Given the description of an element on the screen output the (x, y) to click on. 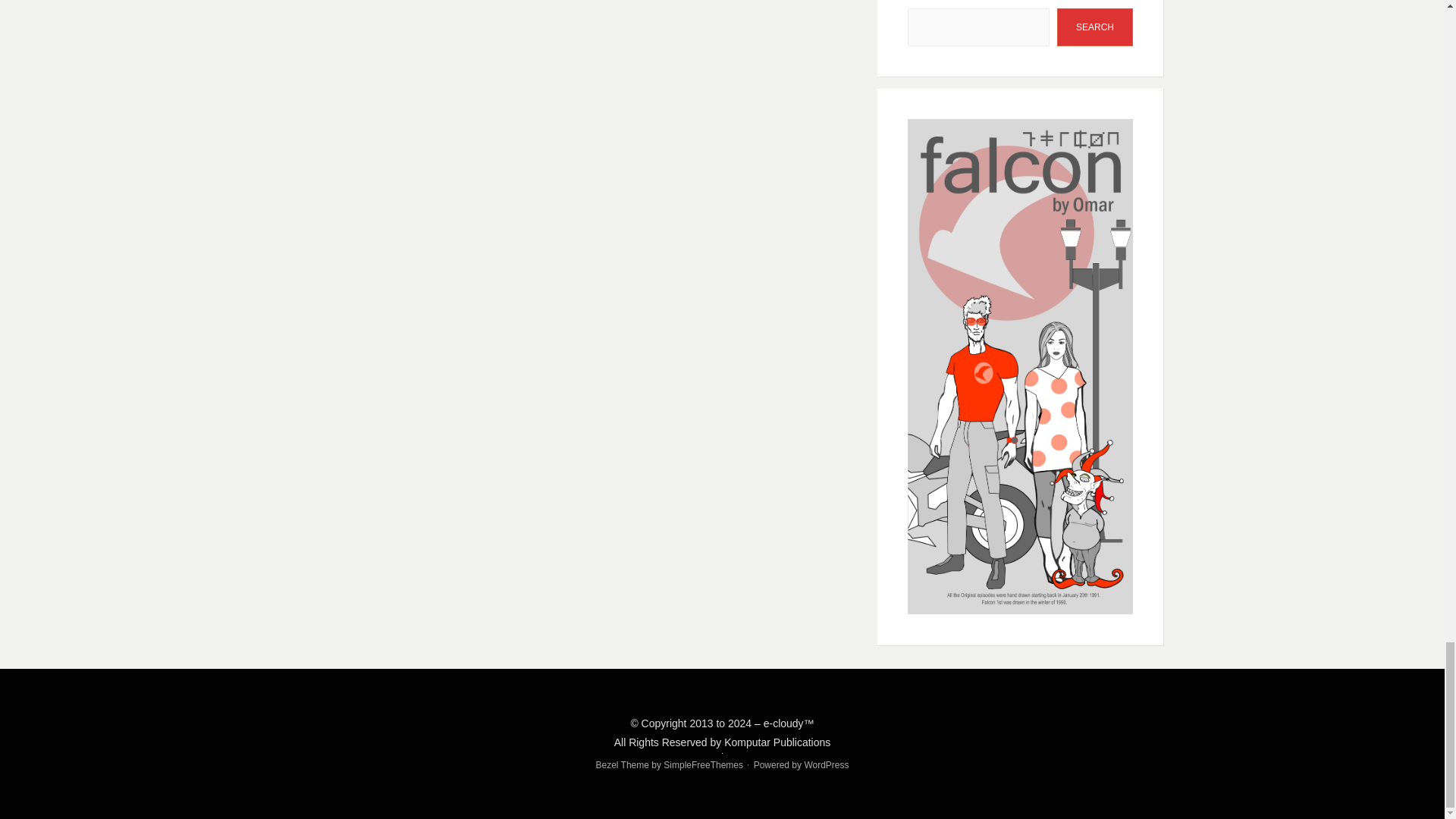
SimpleFreeThemes (702, 765)
WordPress (825, 765)
